Given the description of an element on the screen output the (x, y) to click on. 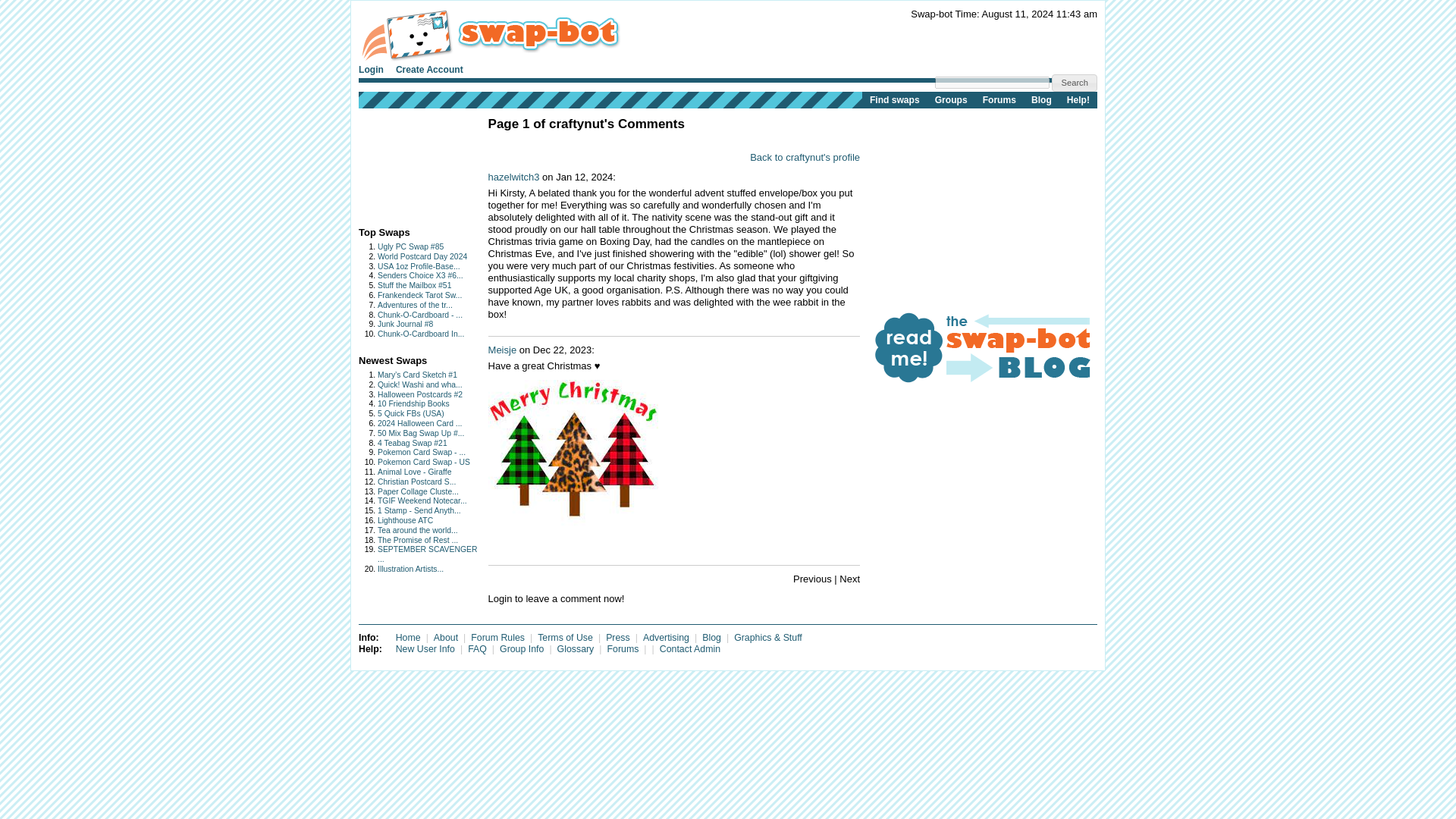
Pokemon Card Swap - US (423, 461)
Frankendeck Tarot Sw... (419, 295)
View the details of World Postcard Day 2024 (422, 256)
Forums (999, 99)
Search (1074, 82)
Quick! Washi and wha... (420, 384)
2024 Halloween Card ... (419, 423)
World Postcard Day 2024 (422, 256)
Paper Collage Cluste... (417, 491)
Blog (1041, 99)
